Given the description of an element on the screen output the (x, y) to click on. 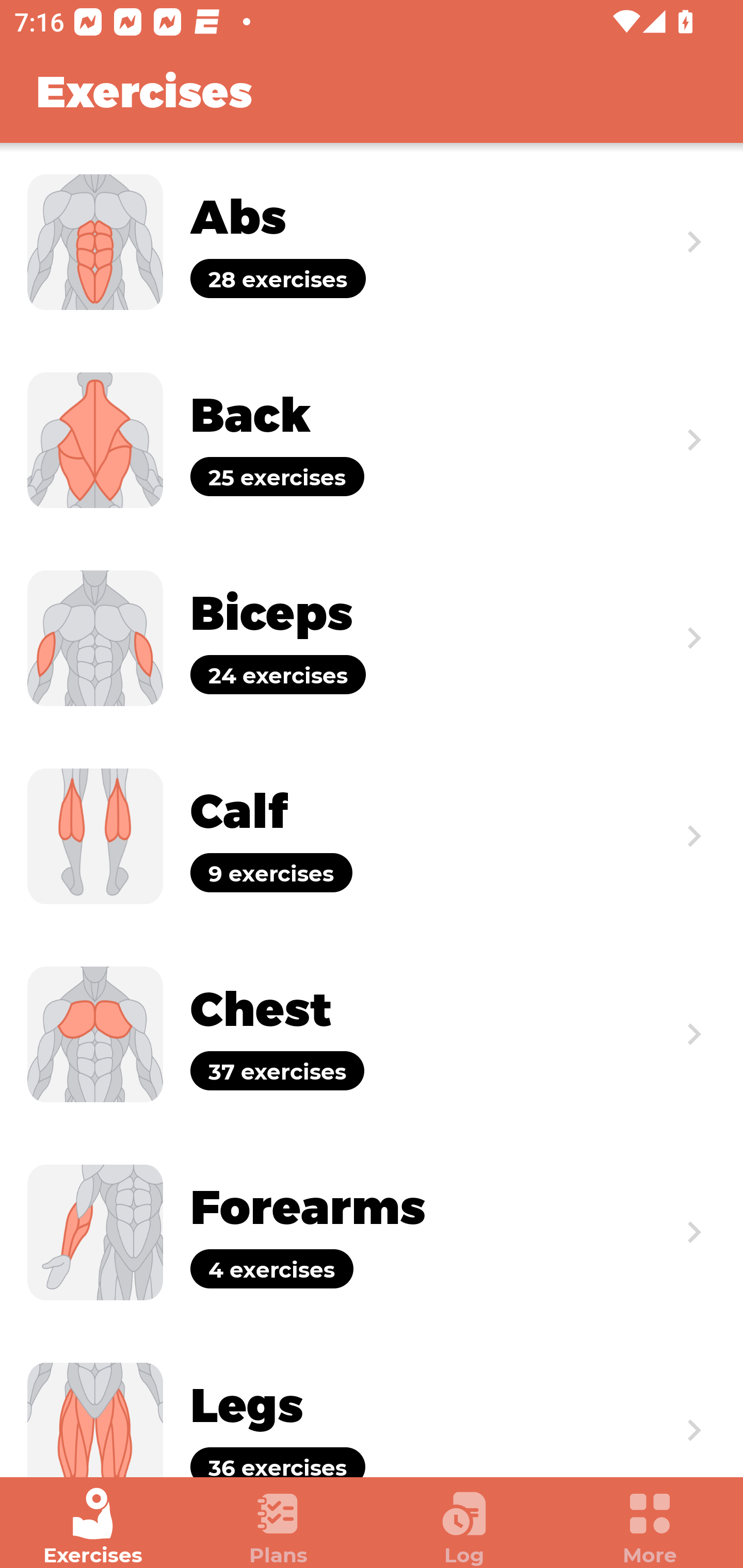
Exercise Abs 28 exercises (371, 241)
Exercise Back 25 exercises (371, 439)
Exercise Biceps 24 exercises (371, 637)
Exercise Calf 9 exercises (371, 836)
Exercise Chest 37 exercises (371, 1033)
Exercise Forearms 4 exercises (371, 1232)
Exercise Legs 36 exercises (371, 1404)
Exercises (92, 1527)
Plans (278, 1527)
Log (464, 1527)
More (650, 1527)
